Given the description of an element on the screen output the (x, y) to click on. 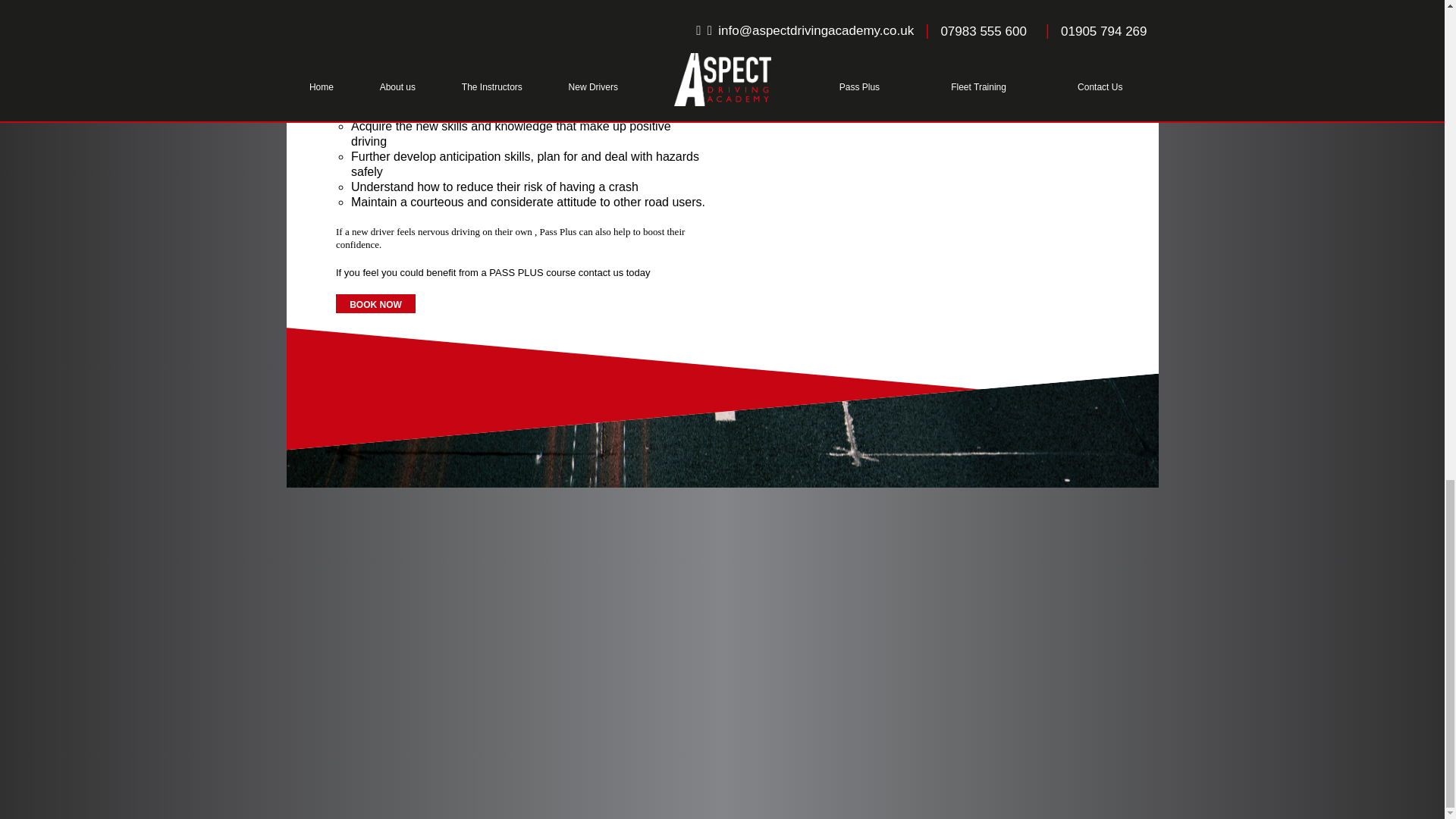
BOOK NOW (520, 303)
